Given the description of an element on the screen output the (x, y) to click on. 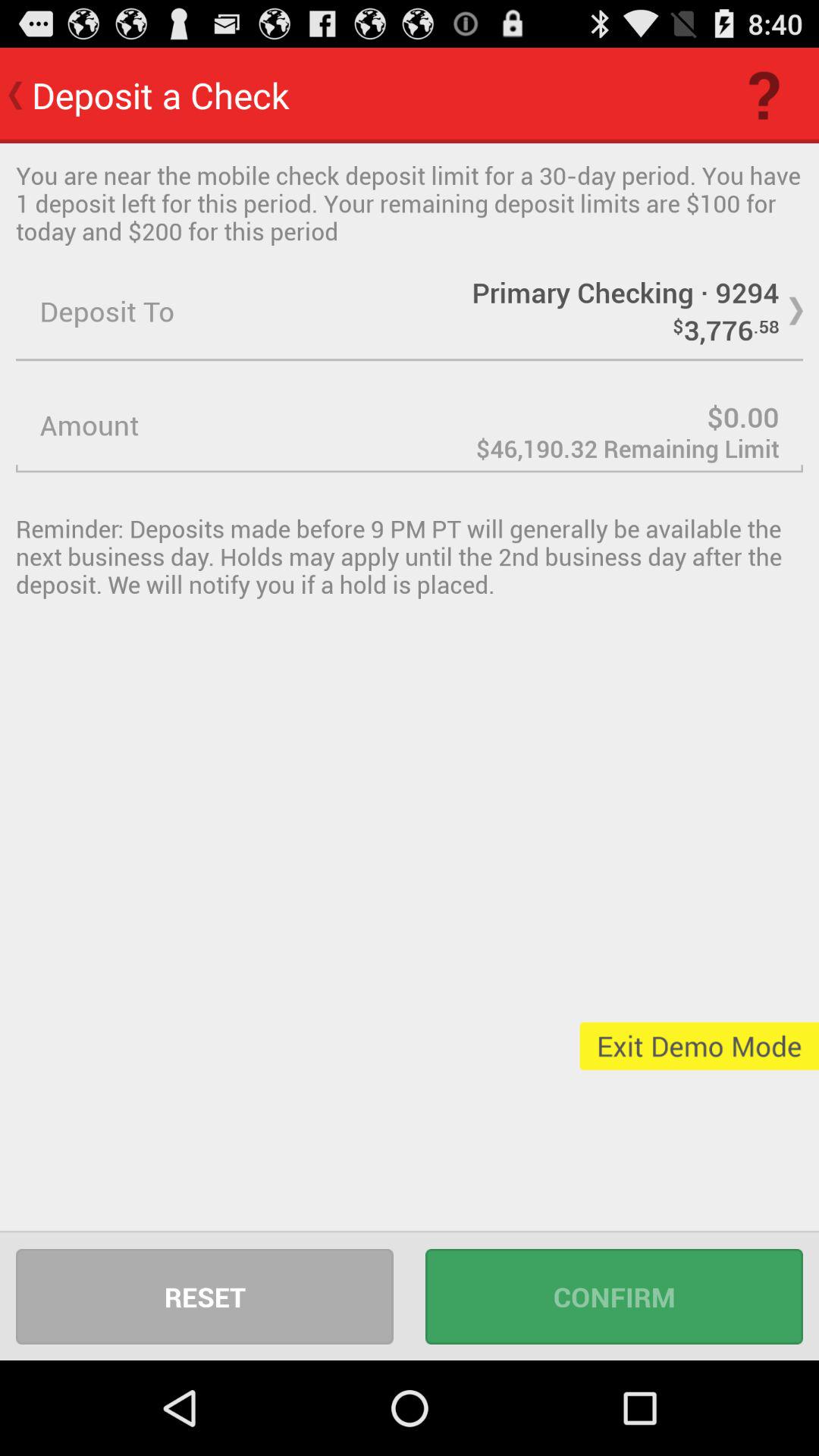
select the confirm item (614, 1296)
